Given the description of an element on the screen output the (x, y) to click on. 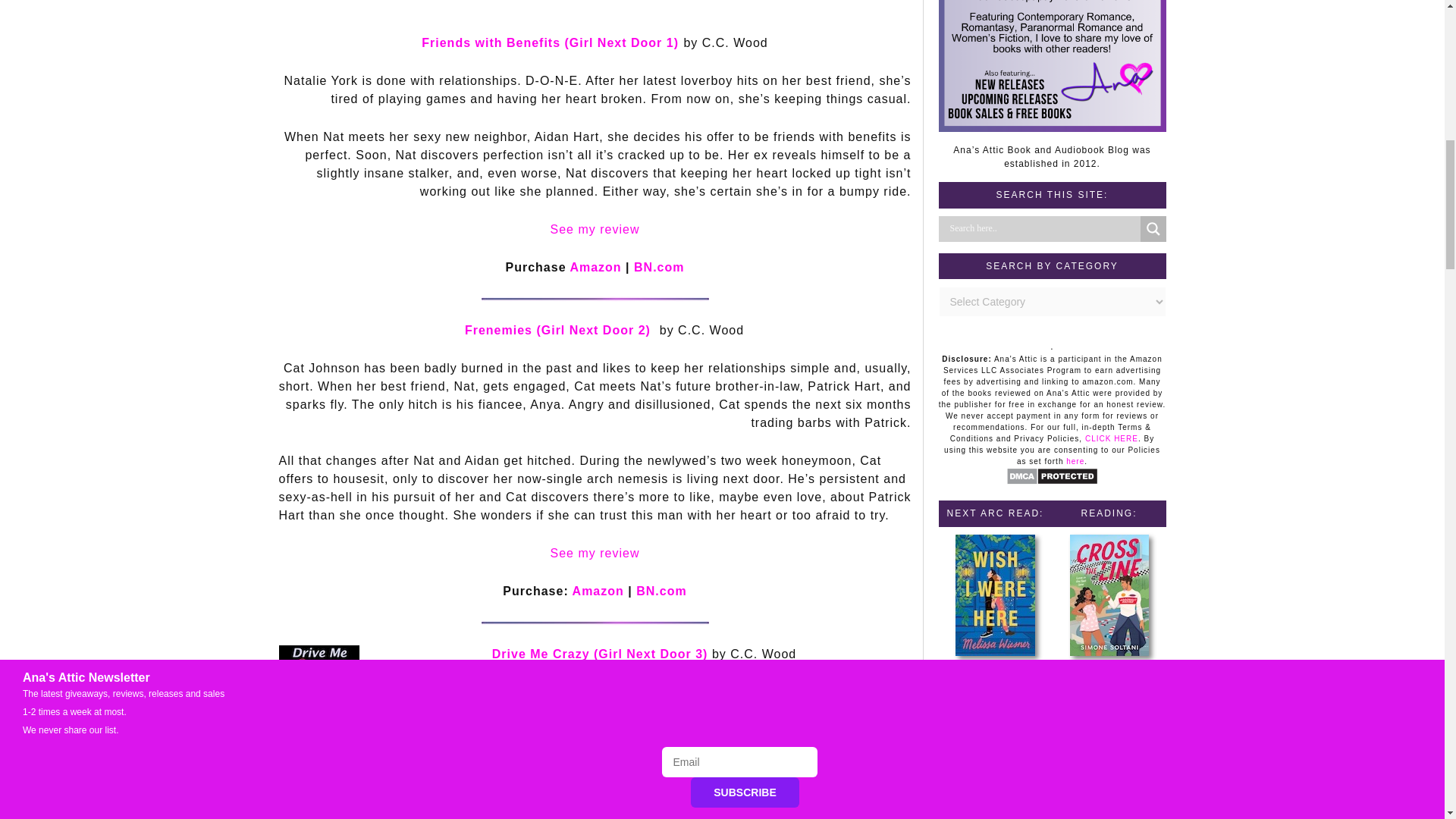
Review: Friends with Benefits by C.C. Wood (595, 228)
DMCA.com Protection Status (1051, 481)
Review of Frenemies by CC Wood (595, 553)
